Given the description of an element on the screen output the (x, y) to click on. 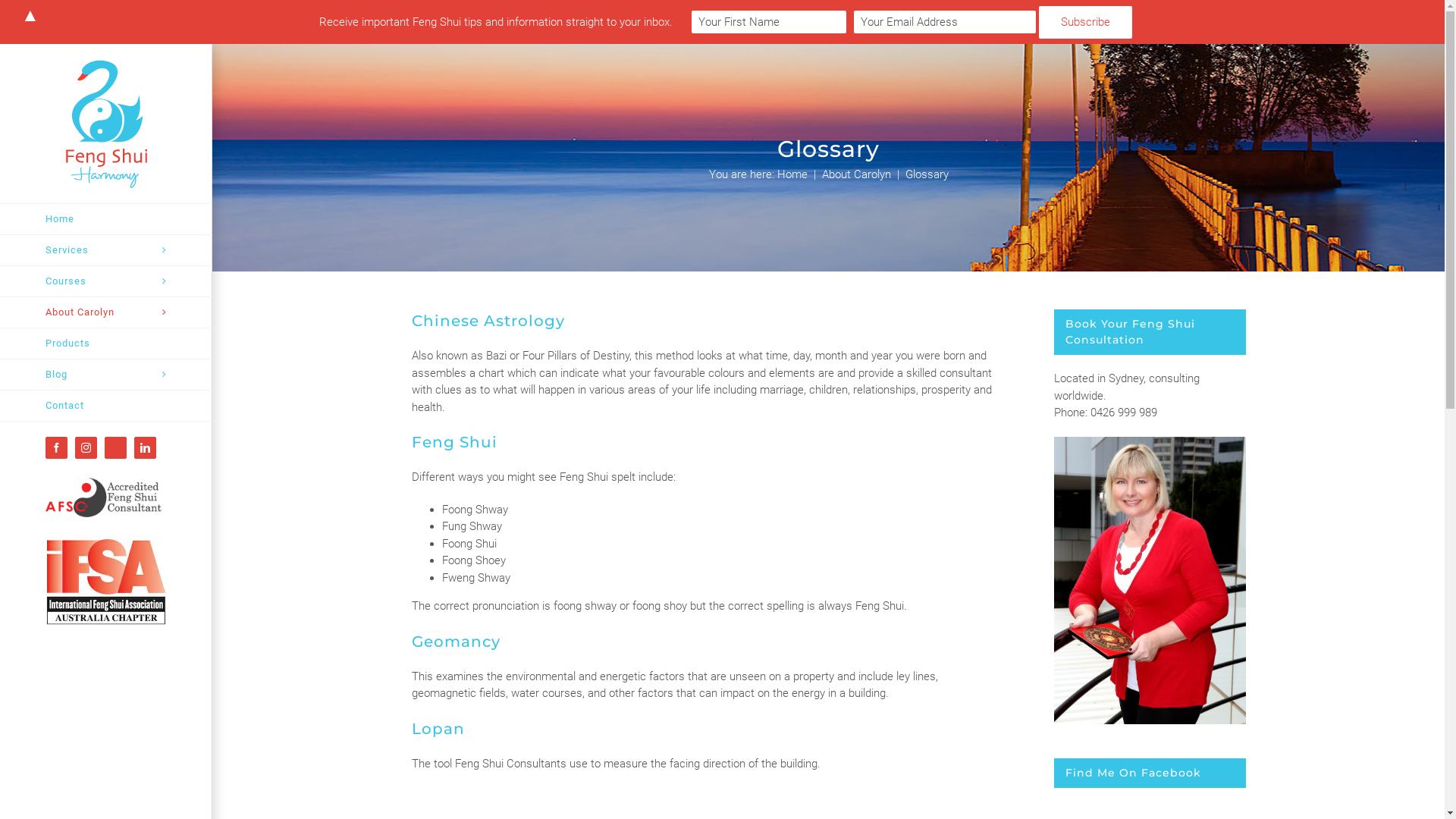
LinkedIn Element type: text (145, 447)
Home Element type: text (106, 219)
Products Element type: text (106, 343)
Contact Element type: text (106, 405)
About Carolyn Element type: text (106, 312)
Home Element type: text (791, 174)
Subscribe Element type: text (1085, 22)
About Carolyn Element type: text (856, 174)
Facebook Element type: text (56, 447)
Instagram Element type: text (86, 447)
Blog Element type: text (106, 374)
Services Element type: text (106, 250)
Courses Element type: text (106, 281)
Twitter Element type: text (115, 447)
